Given the description of an element on the screen output the (x, y) to click on. 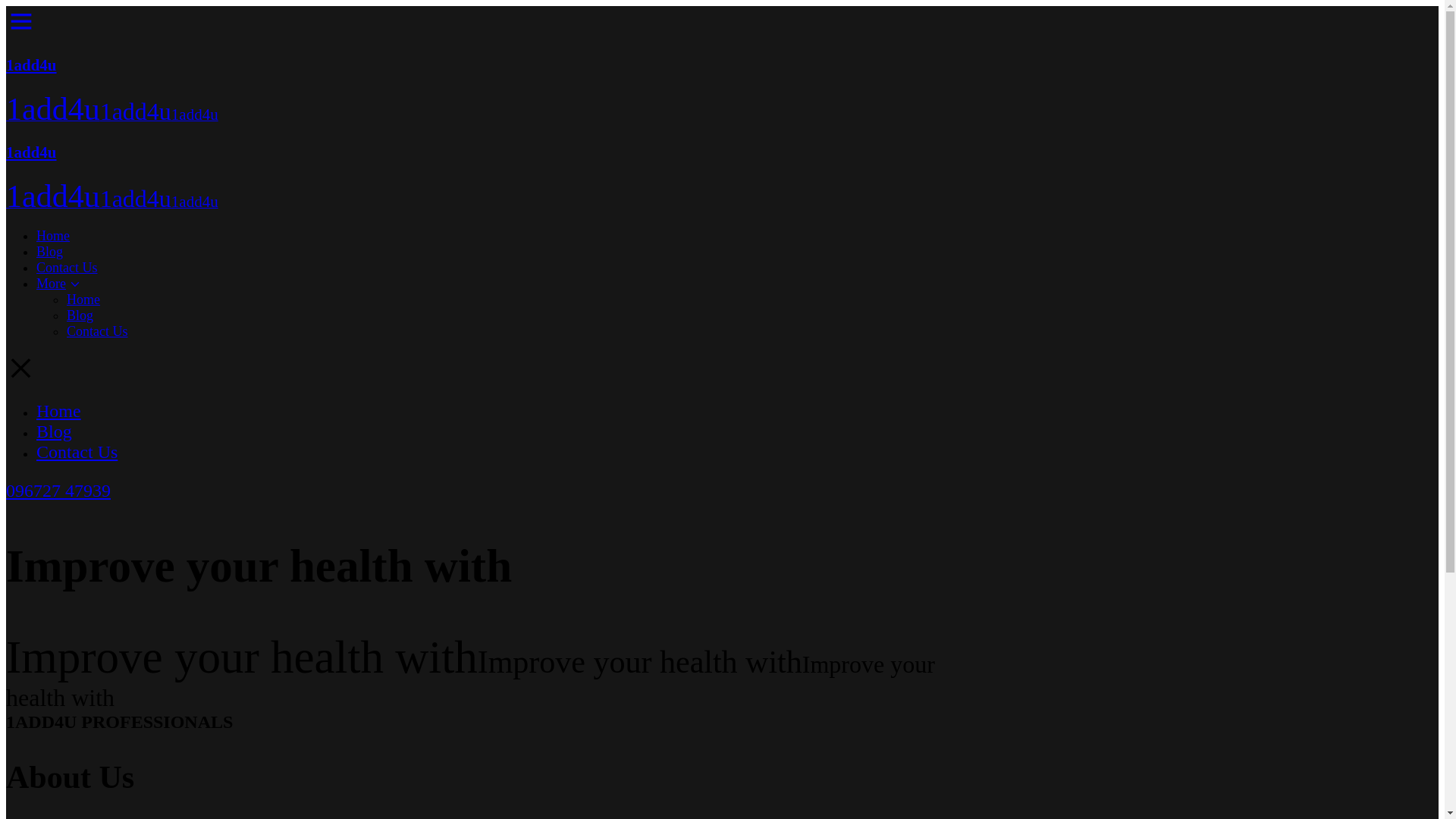
Contact Us Element type: text (66, 267)
More Element type: text (506, 283)
Home Element type: text (52, 235)
096727 47939 Element type: text (58, 490)
1add4u
1add4u1add4u1add4u Element type: text (491, 178)
Blog Element type: text (49, 251)
Contact Us Element type: text (97, 330)
Home Element type: text (58, 410)
Home Element type: text (83, 299)
Contact Us Element type: text (76, 451)
1add4u
1add4u1add4u1add4u Element type: text (491, 91)
Blog Element type: text (79, 315)
Blog Element type: text (54, 431)
